Given the description of an element on the screen output the (x, y) to click on. 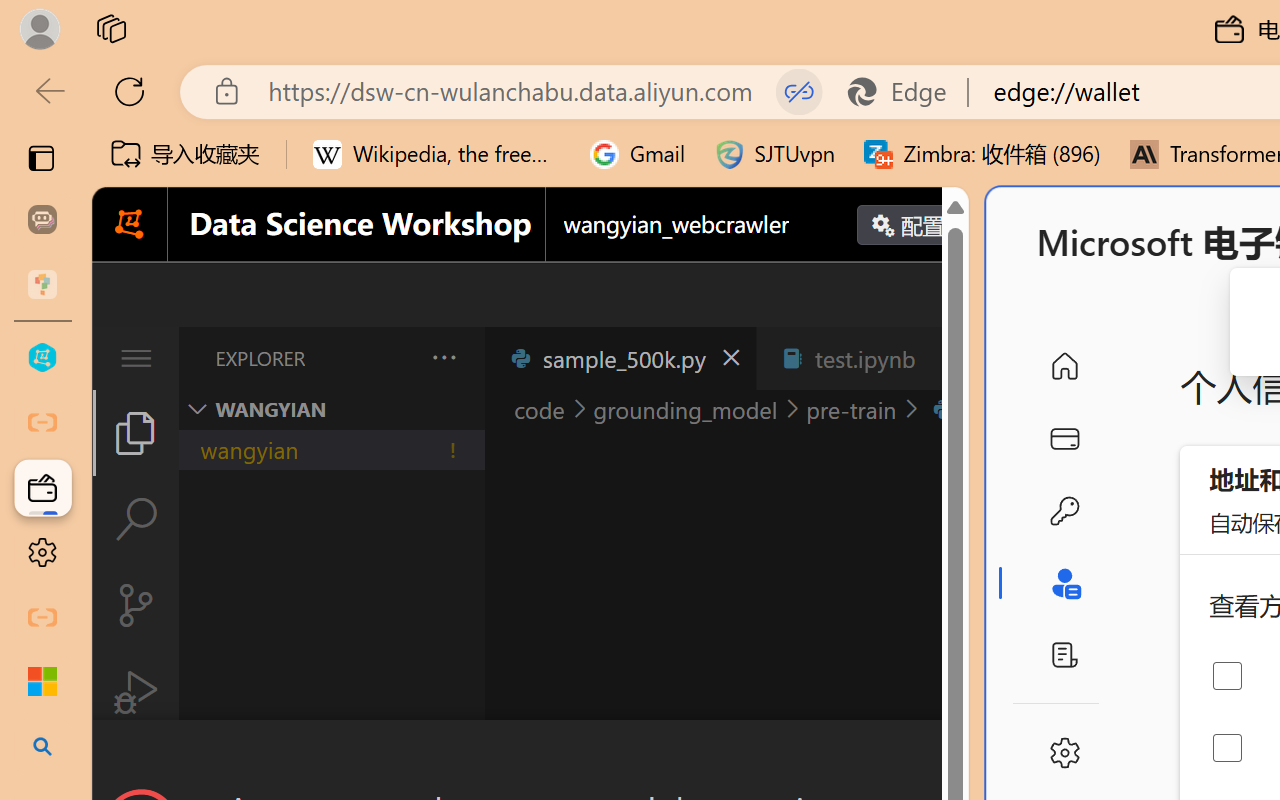
Class: actions-container (529, 756)
Views and More Actions... (442, 357)
wangyian_dsw - DSW (42, 357)
